Given the description of an element on the screen output the (x, y) to click on. 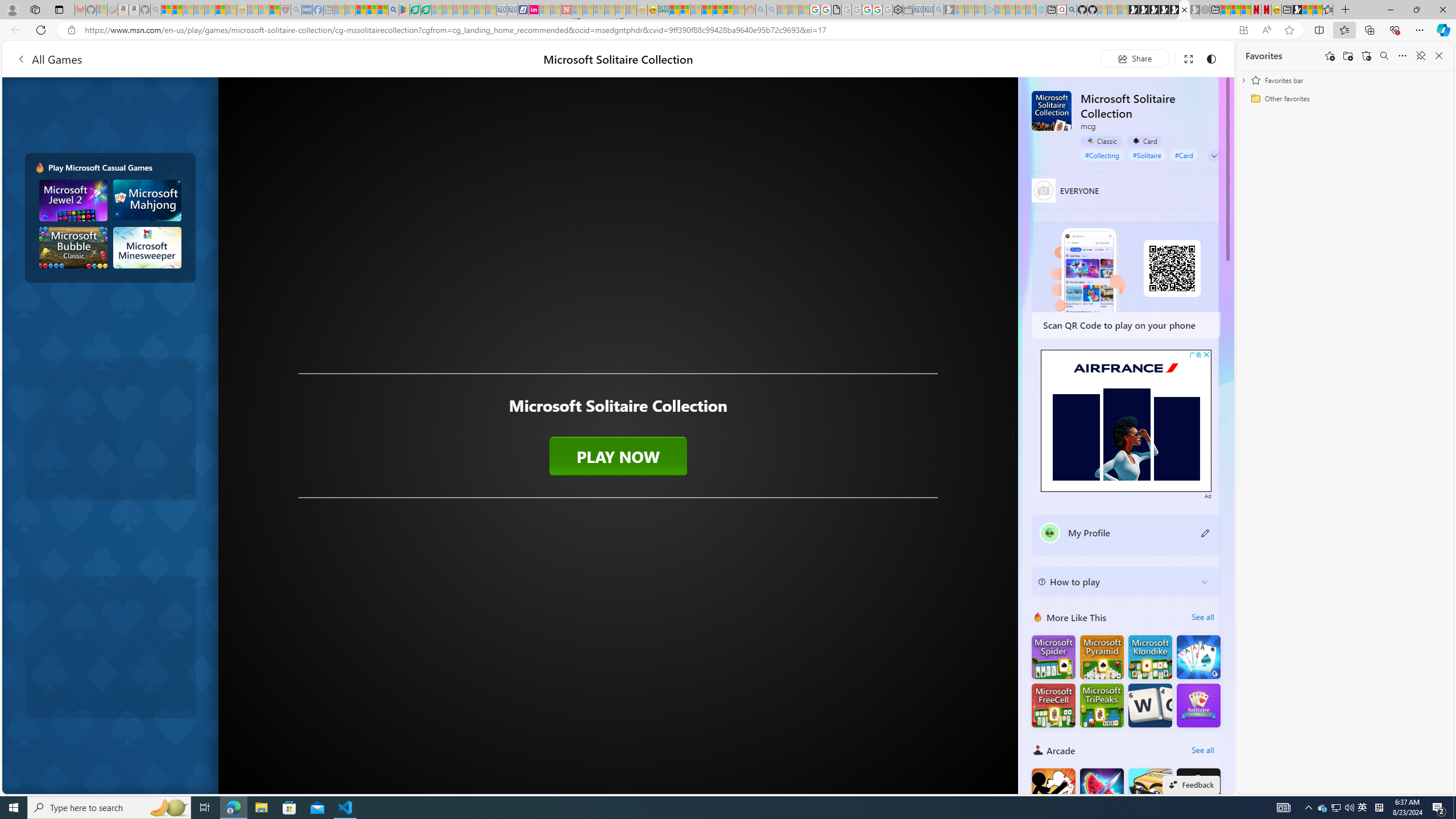
New Report Confirms 2023 Was Record Hot | Watch - Sleeping (209, 9)
Play Cave FRVR in your browser | Games from Microsoft Start (1153, 9)
Fruit Chopper (1101, 789)
Card (1143, 141)
App available. Install Microsoft Solitaire Collection (1243, 29)
EVERYONE (1043, 190)
Wallet - Sleeping (907, 9)
google - Search (392, 9)
Microsoft account | Privacy - Sleeping (979, 9)
Play Free Online Games | Games from Microsoft Start (1132, 9)
Class: button edit-icon (1205, 532)
